Given the description of an element on the screen output the (x, y) to click on. 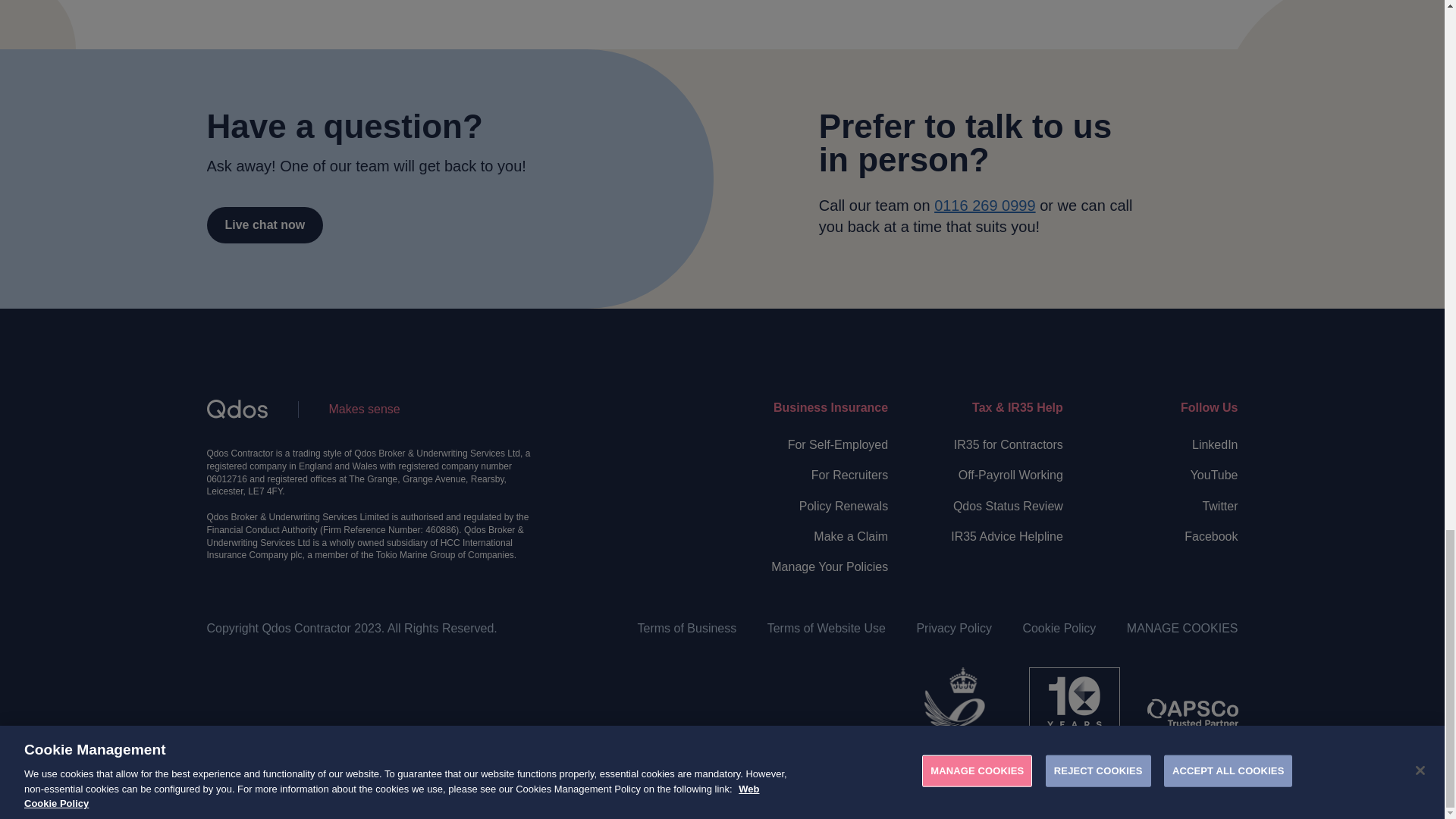
Terms of Business (686, 627)
Feefo - 10 Years of Trusted Service 2024 (1073, 712)
Privacy Policy (953, 627)
Terms of Website Use (826, 627)
Cookie Policy (1059, 627)
Call 0116 269 0999 (984, 205)
